Given the description of an element on the screen output the (x, y) to click on. 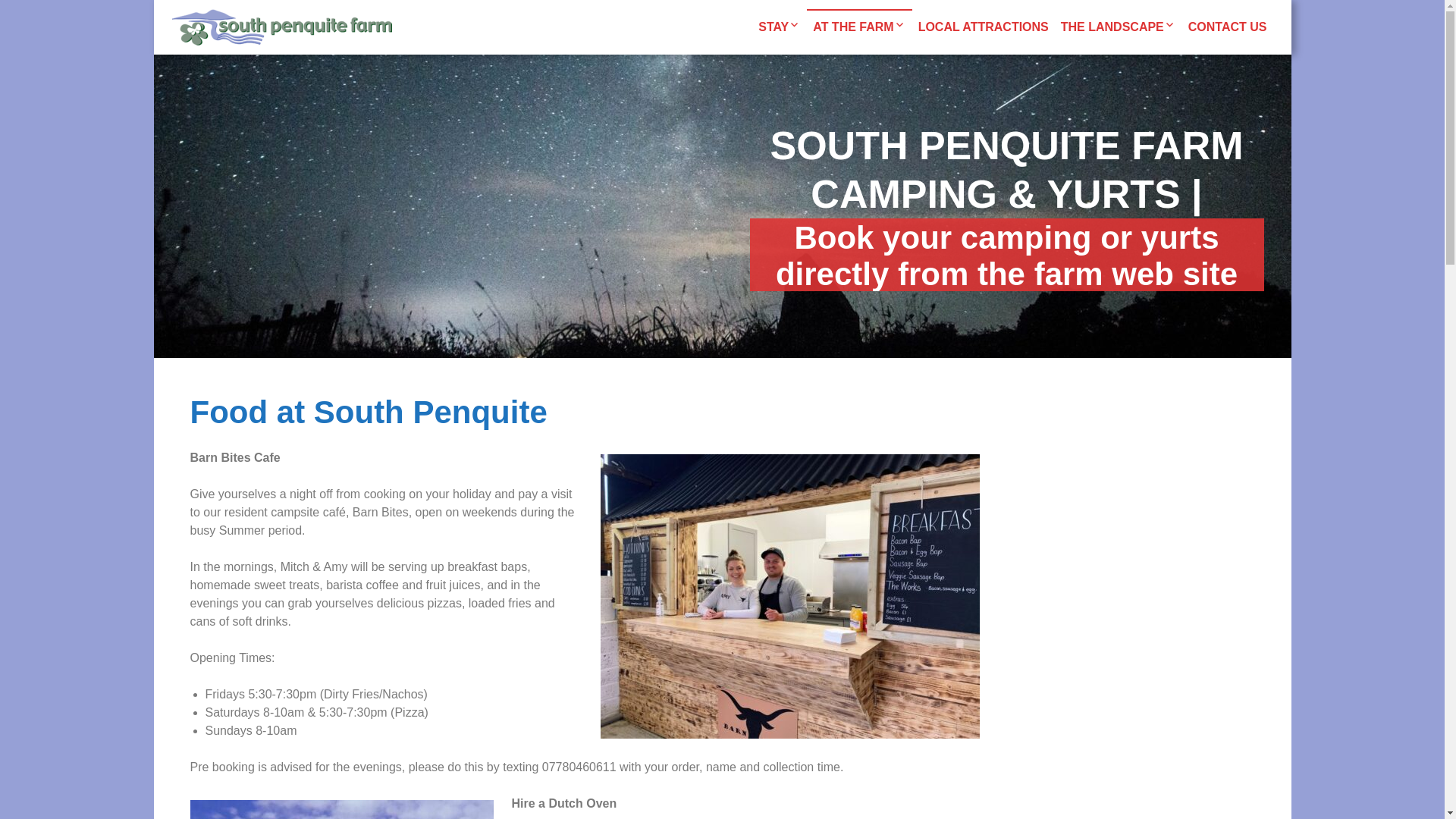
Bodmin Moor (1177, 75)
CONTACT US (1227, 27)
LOCAL ATTRACTIONS (983, 27)
AT THE FARM (858, 27)
Yurts (874, 75)
Food (929, 75)
STAY (779, 27)
THE LANDSCAPE (1118, 27)
